Given the description of an element on the screen output the (x, y) to click on. 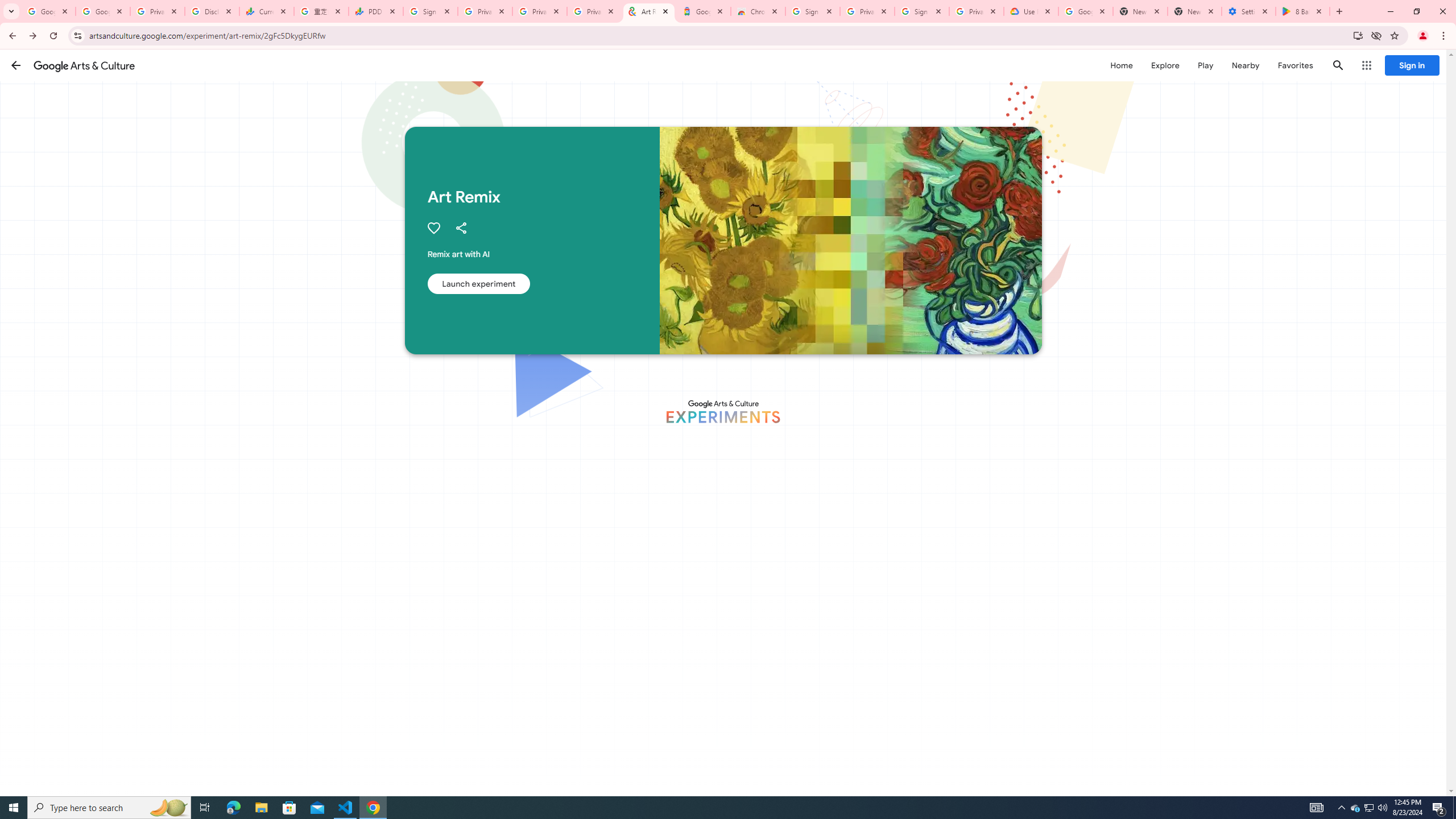
Go to Arts & Culture (807, 467)
Close Experiment (1423, 71)
PDD Holdings Inc - ADR (PDD) Price & News - Google Finance (375, 11)
Share "Art Remix" (460, 227)
Install Google Arts & Culture (1358, 35)
Authenticate to favorite this asset. (432, 227)
Launch experiment (477, 283)
